Given the description of an element on the screen output the (x, y) to click on. 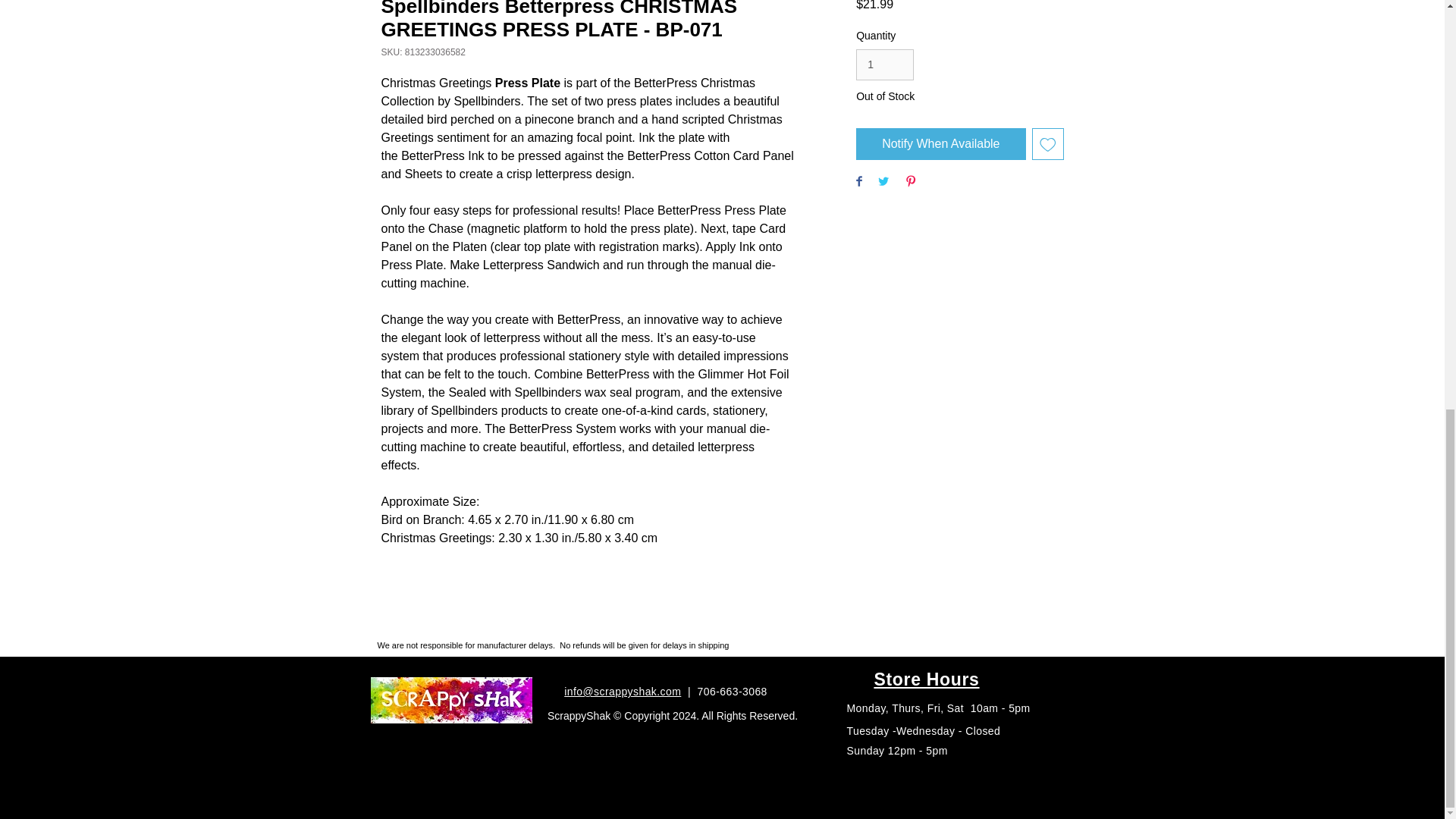
1 (885, 64)
